Given the description of an element on the screen output the (x, y) to click on. 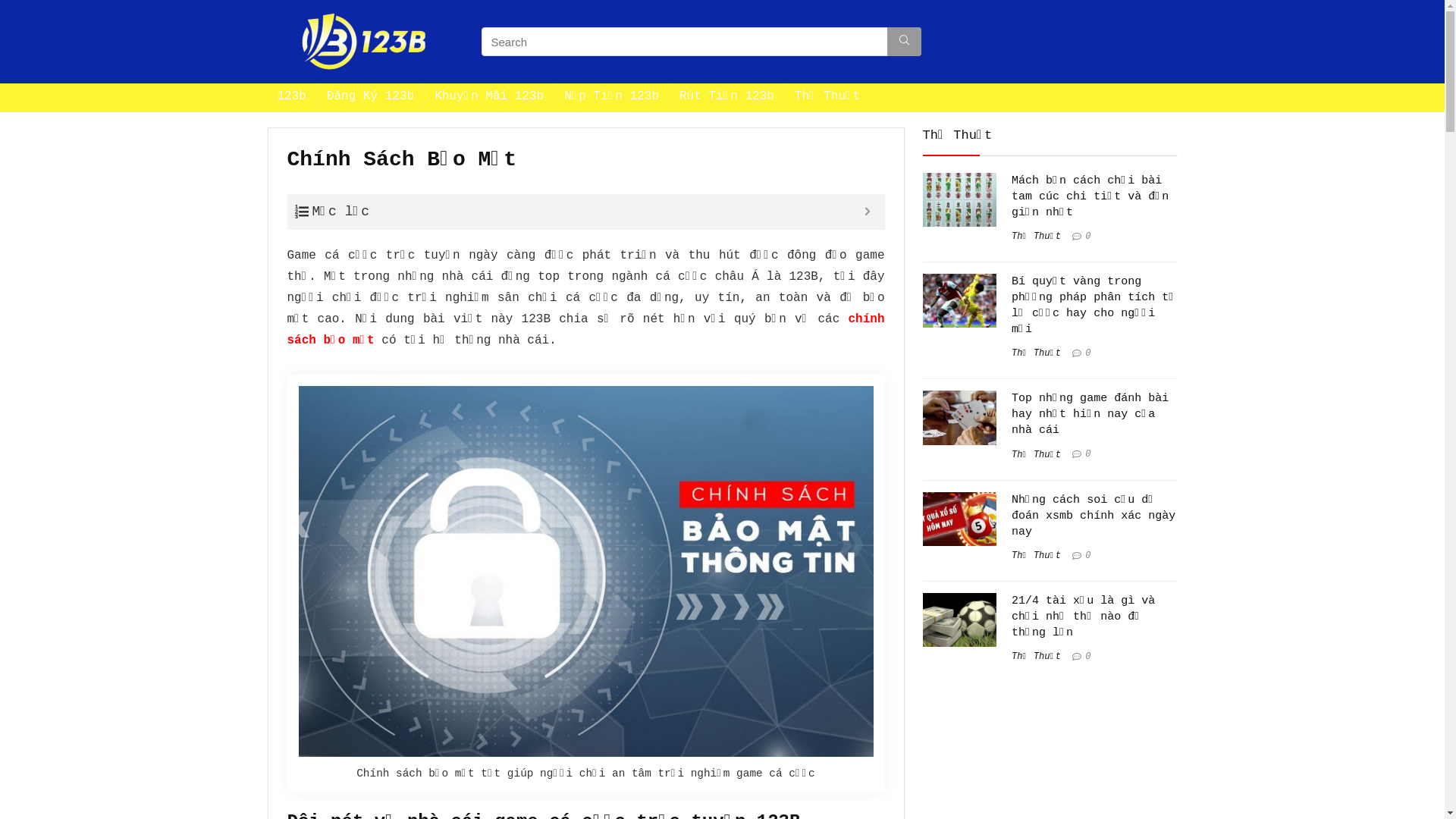
0 Element type: text (1087, 353)
0 Element type: text (1087, 236)
0 Element type: text (1087, 454)
123b Element type: text (290, 97)
0 Element type: text (1087, 555)
0 Element type: text (1087, 656)
